Given the description of an element on the screen output the (x, y) to click on. 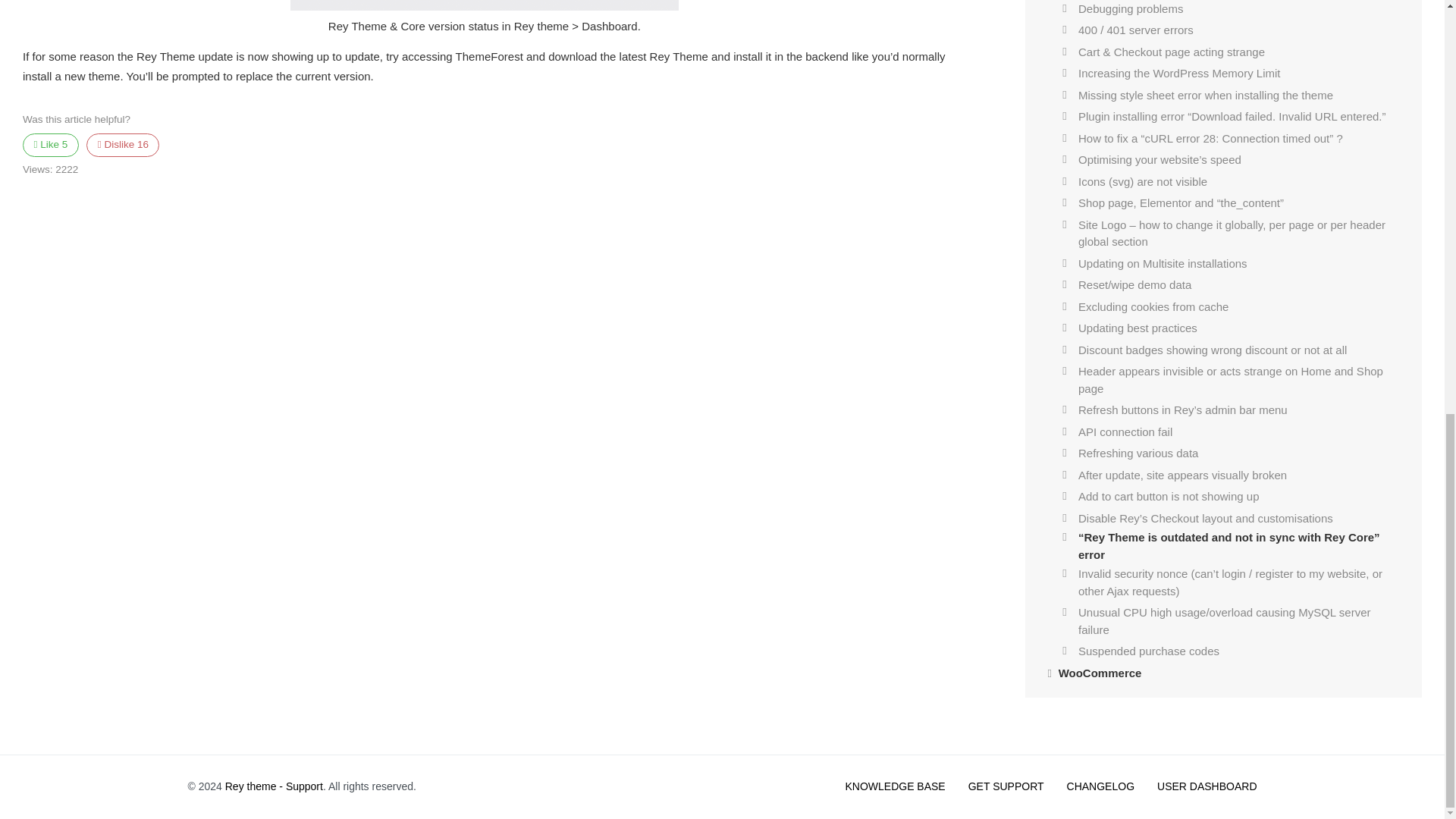
Like (50, 144)
Dislike 16 (121, 144)
Like 5 (50, 144)
Dislike (121, 144)
